Given the description of an element on the screen output the (x, y) to click on. 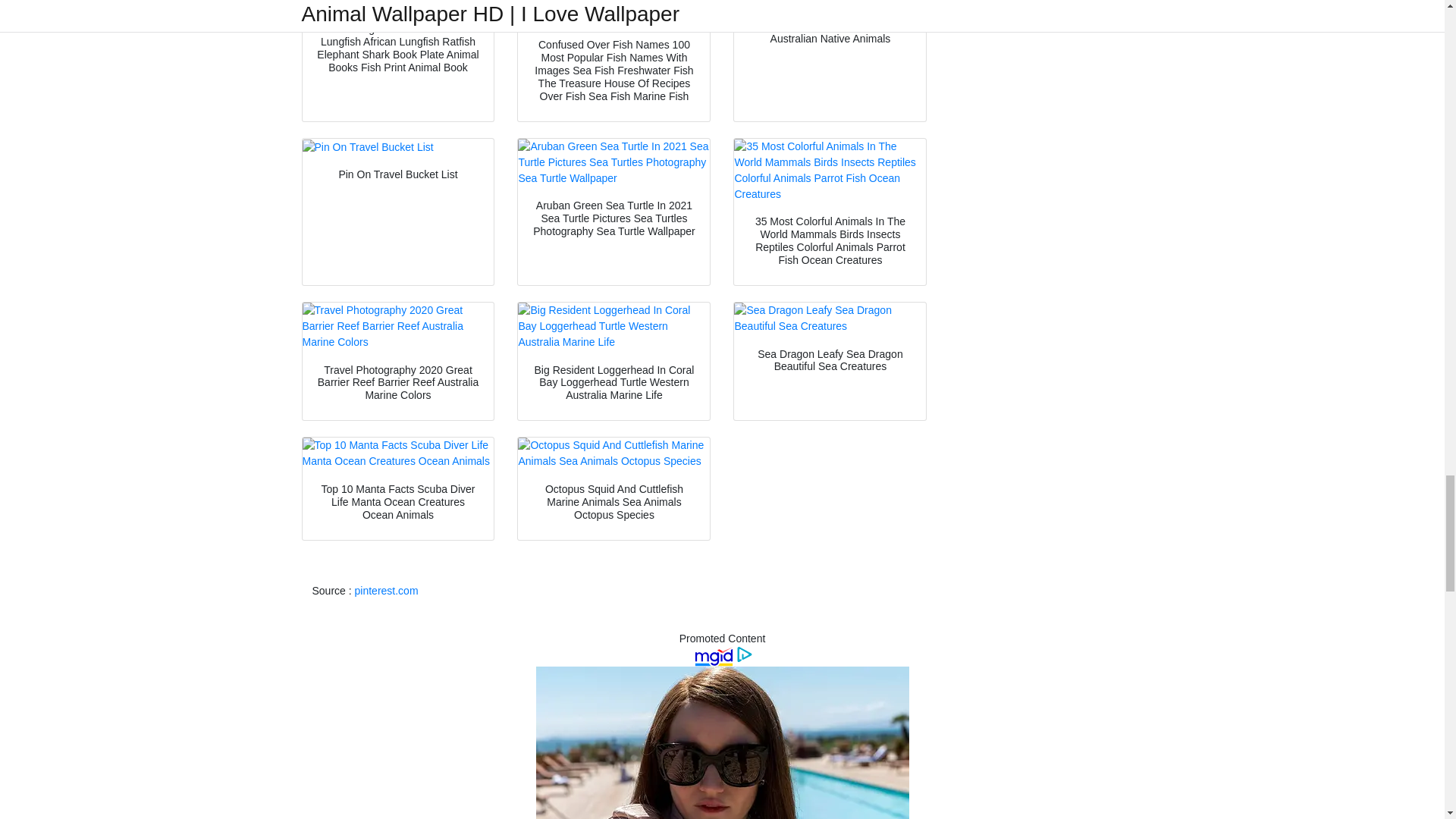
pinterest.com (387, 590)
